Given the description of an element on the screen output the (x, y) to click on. 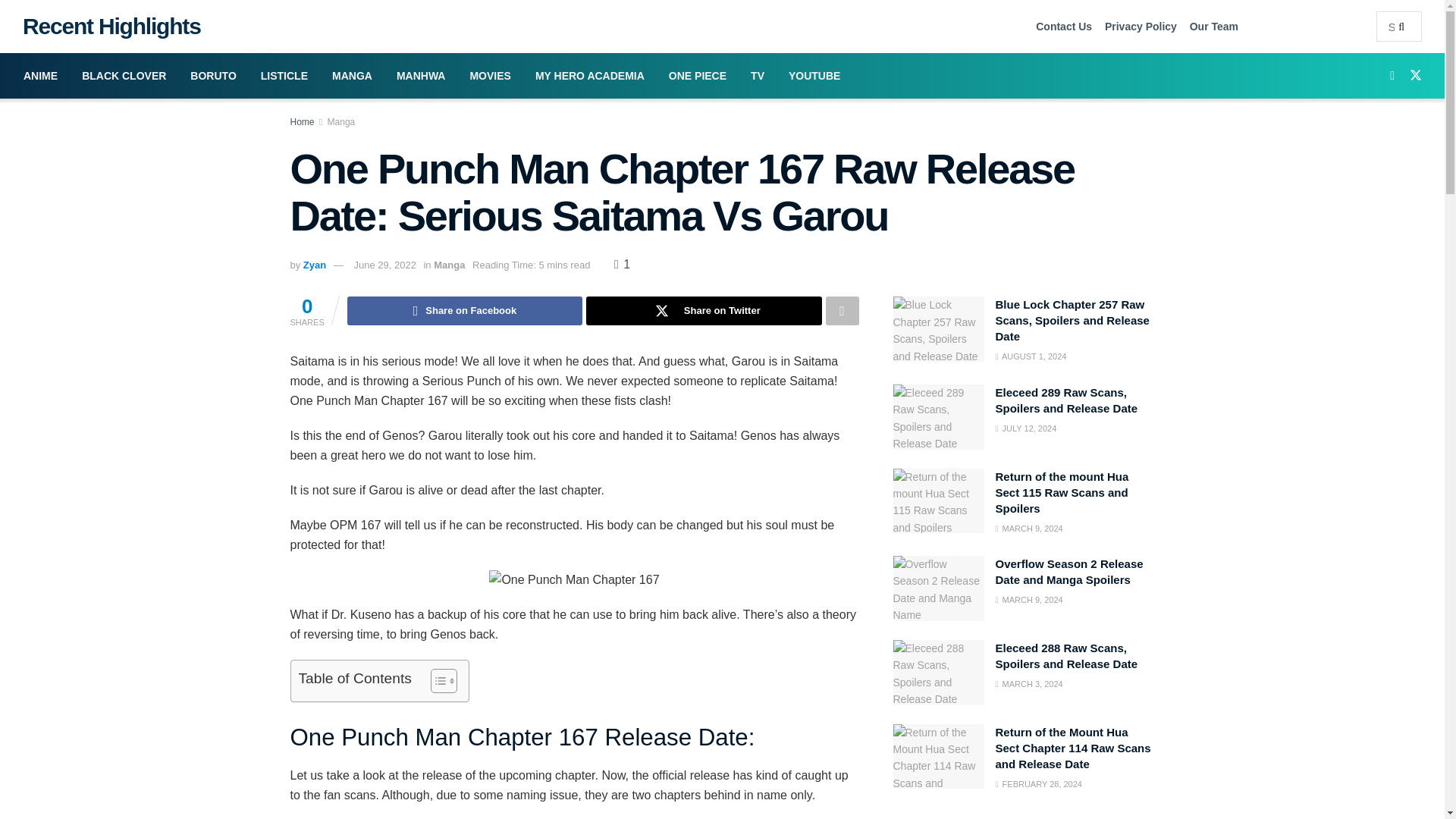
MY HERO ACADEMIA (589, 75)
June 29, 2022 (383, 265)
Manga (341, 122)
Contact Us (1063, 26)
MANHWA (421, 75)
Privacy Policy (1140, 26)
MOVIES (489, 75)
BLACK CLOVER (123, 75)
MANGA (352, 75)
Recent Highlights (105, 26)
ANIME (40, 75)
Our Team (1214, 26)
YOUTUBE (813, 75)
Zyan (314, 265)
ONE PIECE (697, 75)
